Given the description of an element on the screen output the (x, y) to click on. 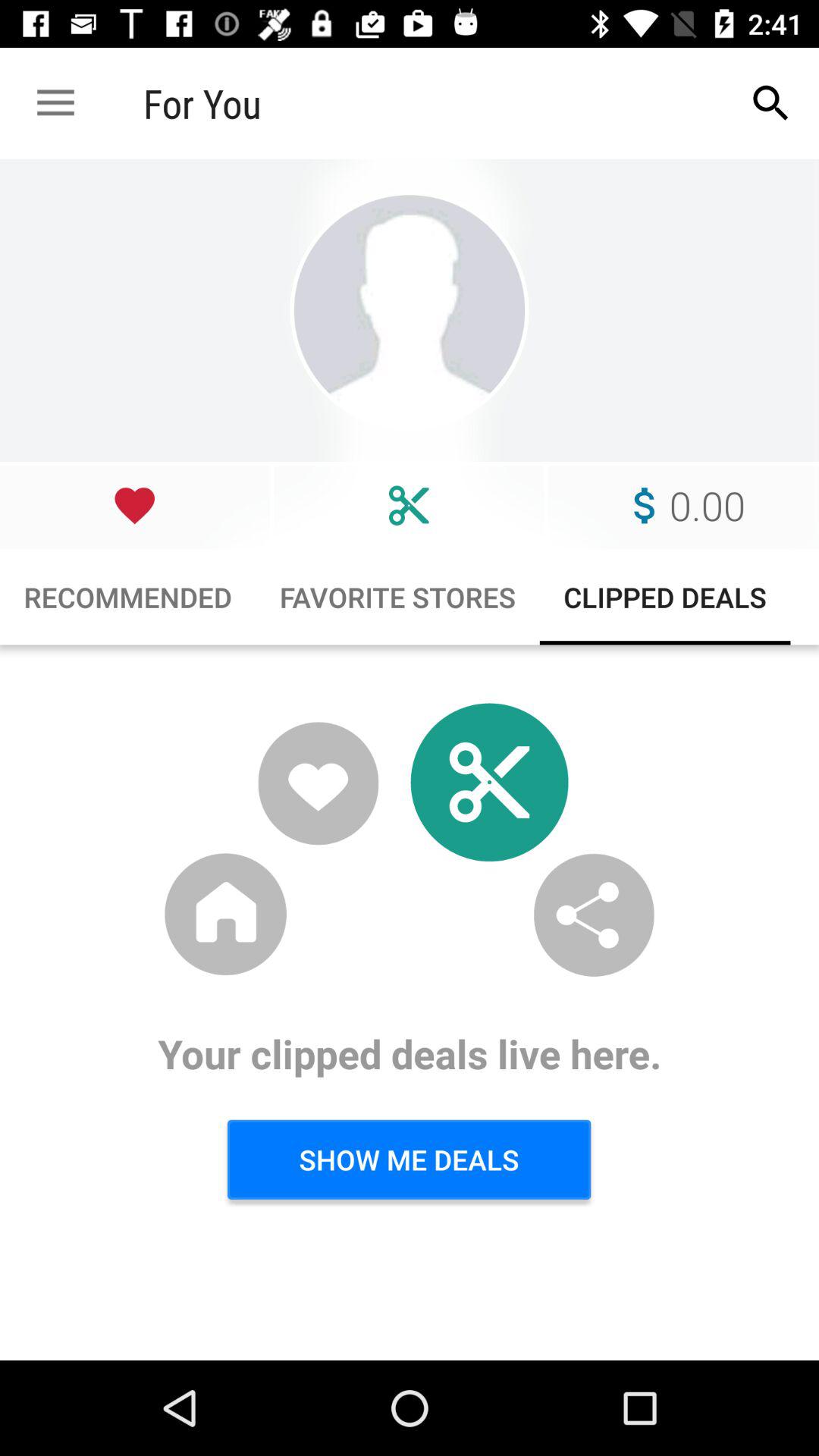
display profile picture (409, 310)
